Given the description of an element on the screen output the (x, y) to click on. 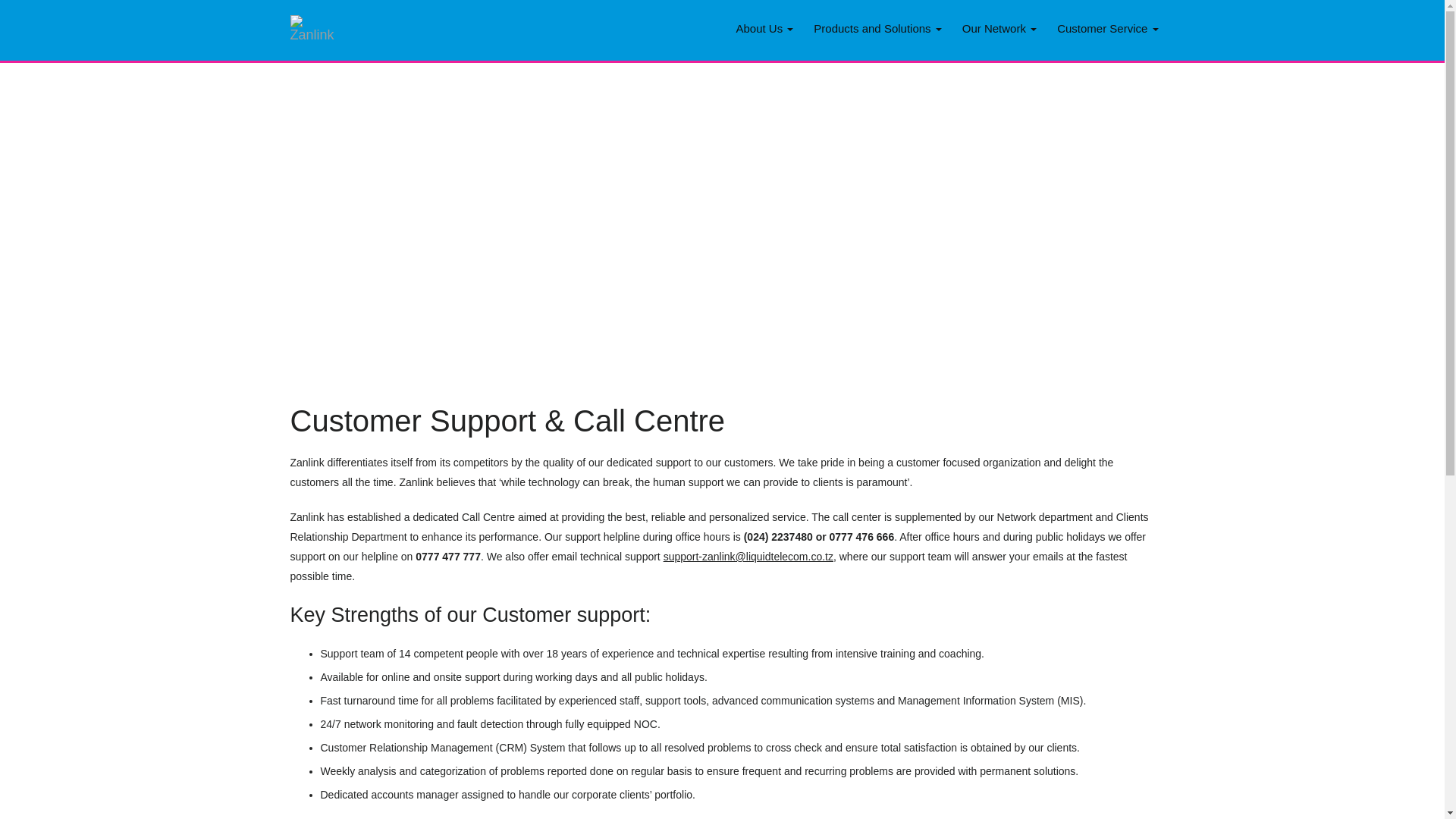
About Us (767, 25)
Customer Service (1111, 25)
Products and Solutions (881, 25)
Our Network (1002, 25)
Customer Service (1111, 25)
Products and Solutions (881, 25)
About Us (767, 25)
Home (322, 30)
Our Network (1002, 25)
